Given the description of an element on the screen output the (x, y) to click on. 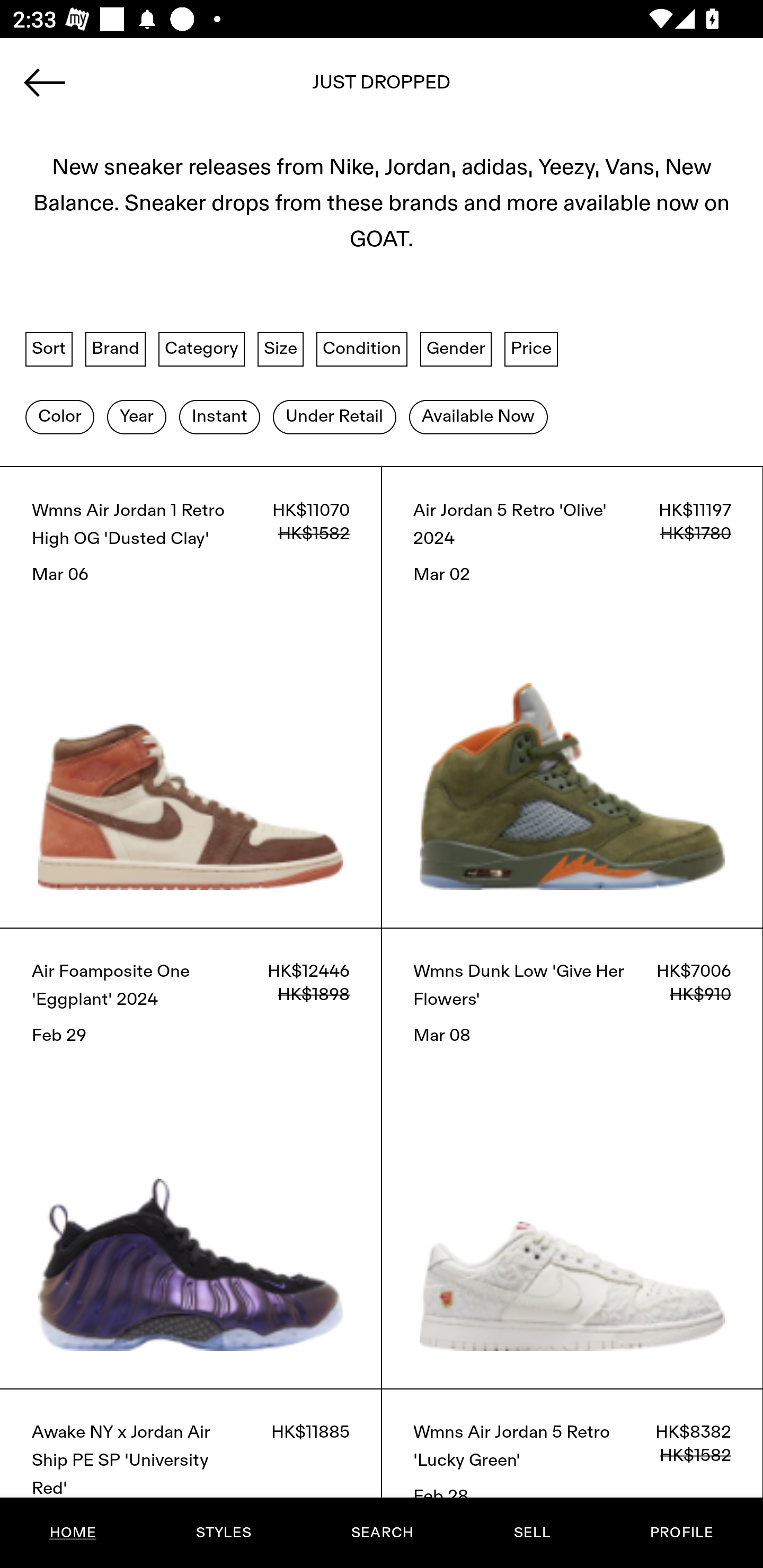
Search (381, 88)
Sort (48, 348)
Brand (115, 348)
Category (201, 348)
Size (280, 348)
Condition (361, 348)
Gender (455, 348)
Price (530, 348)
Color (59, 416)
Year (136, 416)
Instant (219, 416)
Under Retail (334, 416)
Available Now (477, 416)
HOME (72, 1532)
STYLES (222, 1532)
SEARCH (381, 1532)
SELL (531, 1532)
PROFILE (681, 1532)
